Given the description of an element on the screen output the (x, y) to click on. 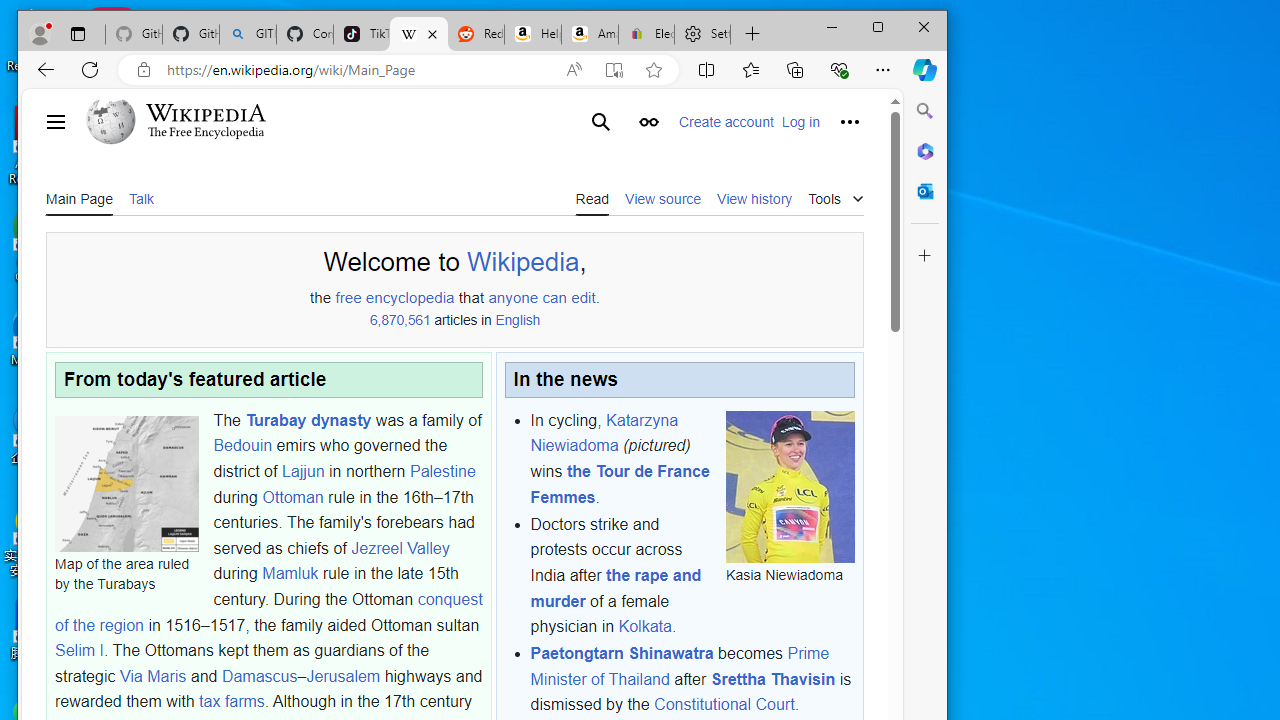
Create account (726, 121)
Prime Minister of Thailand (679, 666)
Srettha Thavisin (772, 679)
Maximize (878, 26)
Main Page (79, 197)
Appearance (648, 122)
View source (662, 197)
Katarzyna Niewiadoma (603, 433)
Damascus (259, 675)
The Free Encyclopedia (205, 132)
Kolkata (645, 626)
Jerusalem (343, 675)
